Given the description of an element on the screen output the (x, y) to click on. 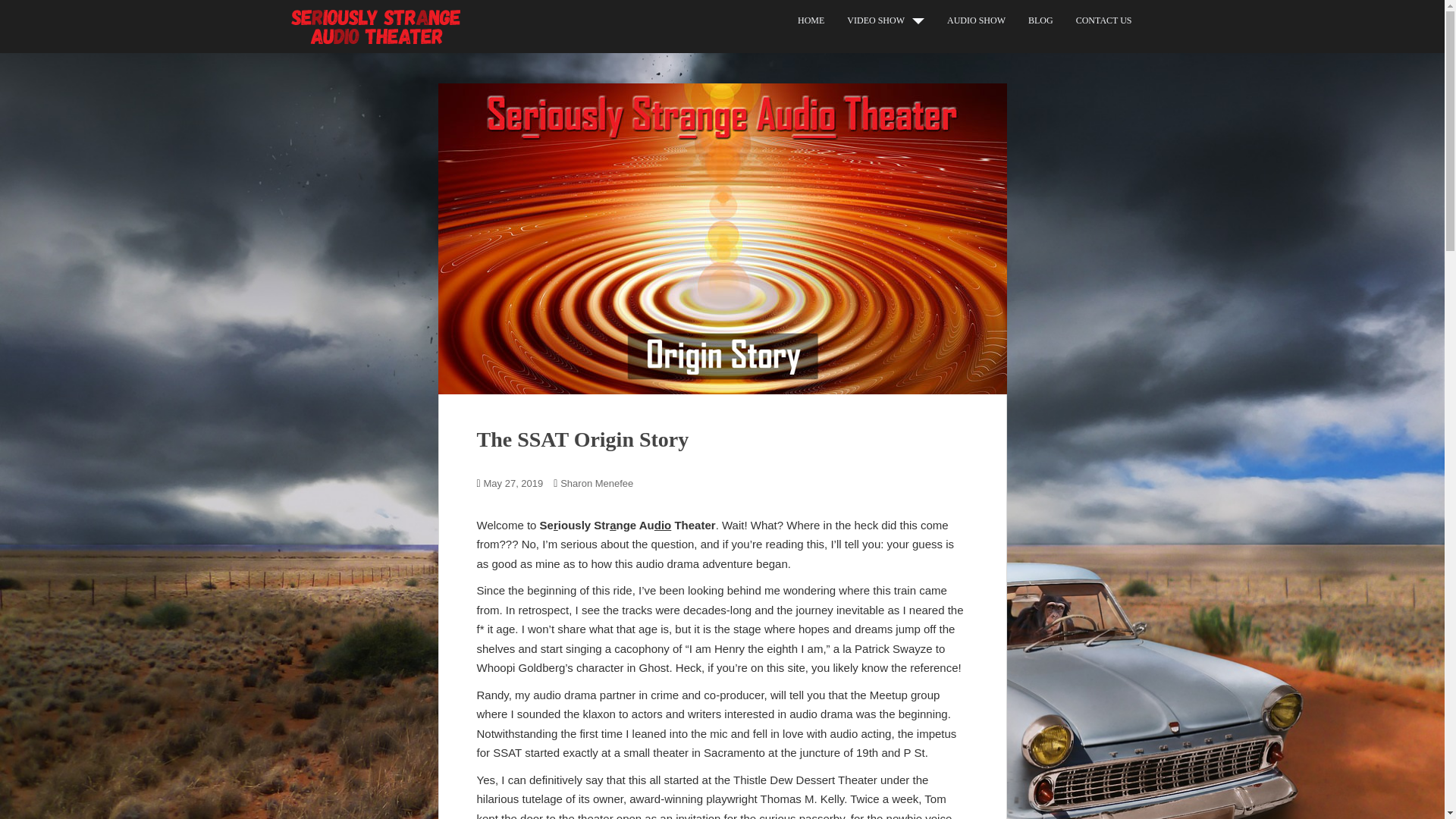
CONTACT US (1103, 20)
VIDEO SHOW (875, 20)
AUDIO SHOW (976, 20)
Sharon Menefee (596, 482)
BLOG (1039, 20)
May 27, 2019 (513, 482)
HOME (810, 20)
